Given the description of an element on the screen output the (x, y) to click on. 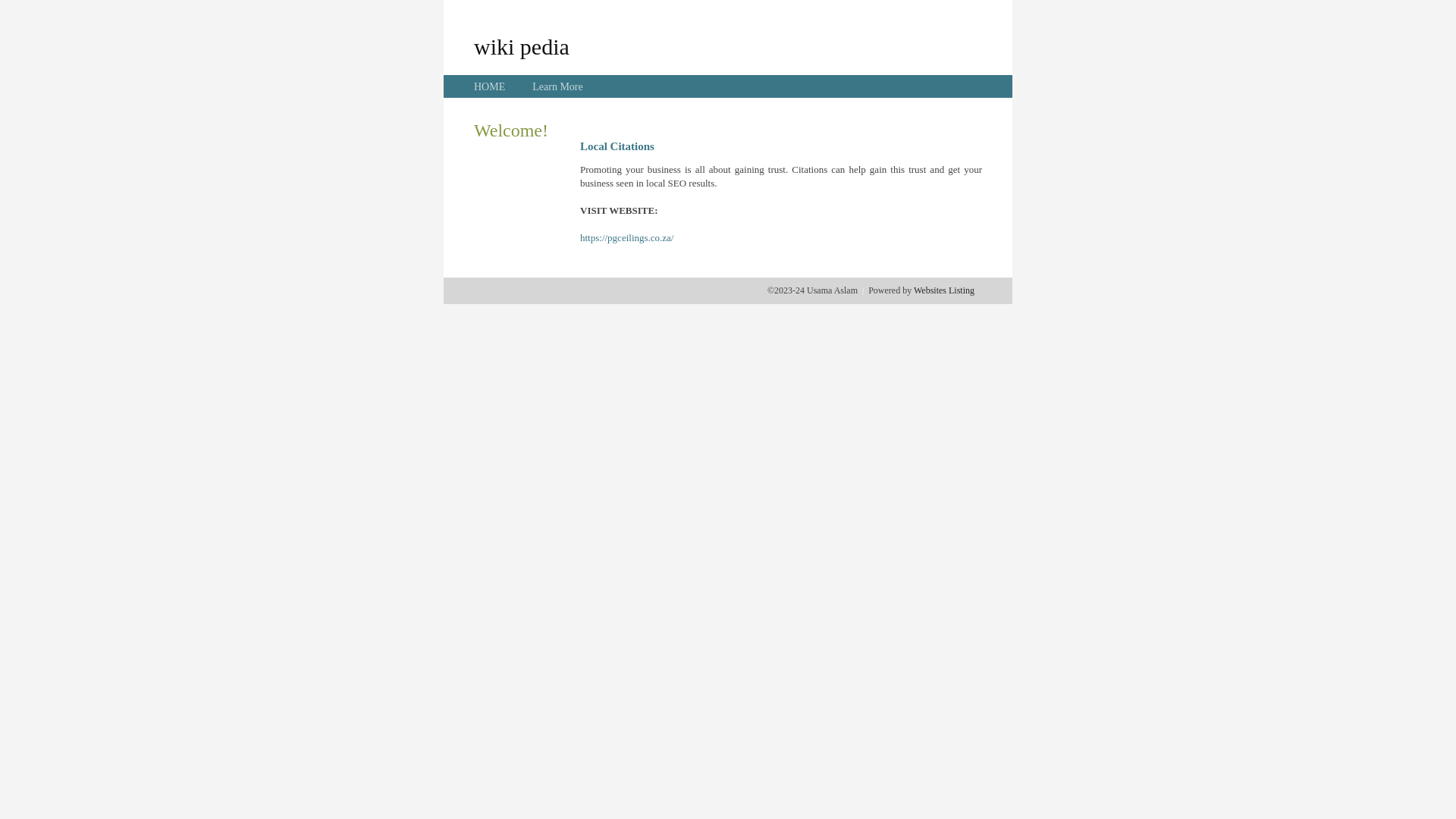
Learn More Element type: text (557, 86)
wiki pedia Element type: text (521, 46)
HOME Element type: text (489, 86)
Websites Listing Element type: text (943, 290)
https://pgceilings.co.za/ Element type: text (626, 237)
